Given the description of an element on the screen output the (x, y) to click on. 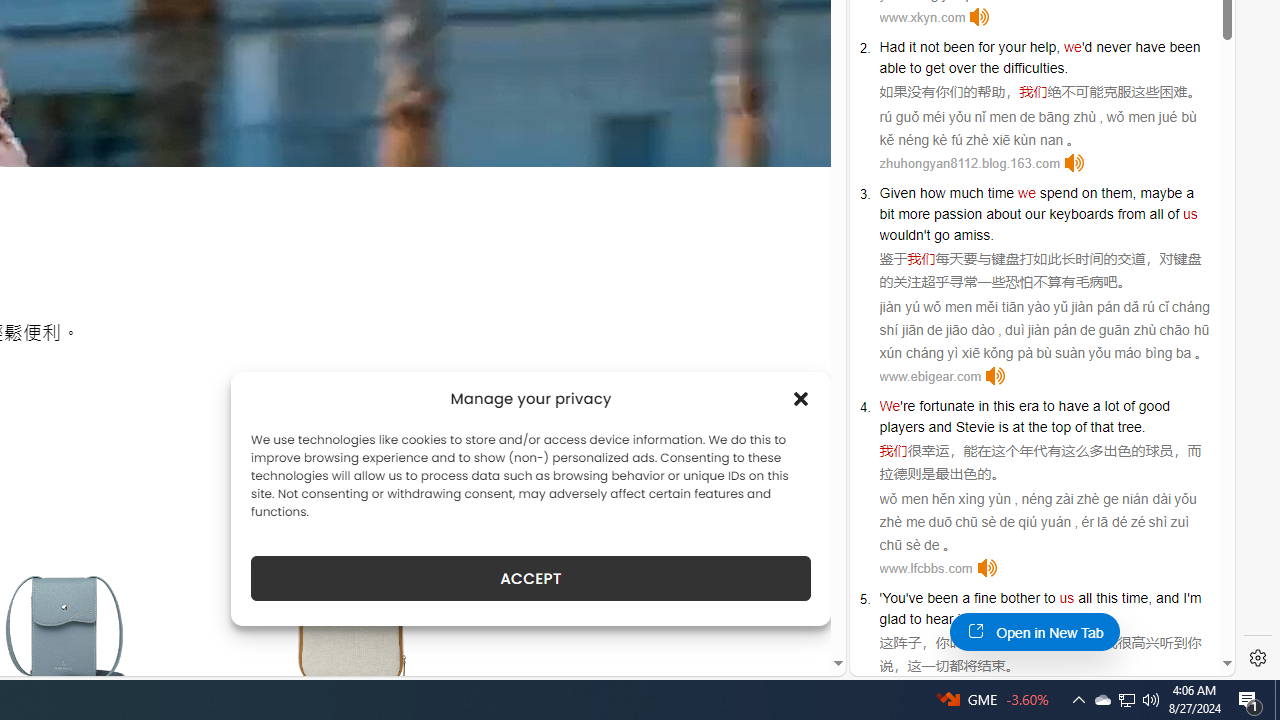
maybe (1161, 192)
era (1028, 405)
www.xkyn.com (922, 17)
help (1043, 46)
more (914, 213)
players (902, 426)
